Given the description of an element on the screen output the (x, y) to click on. 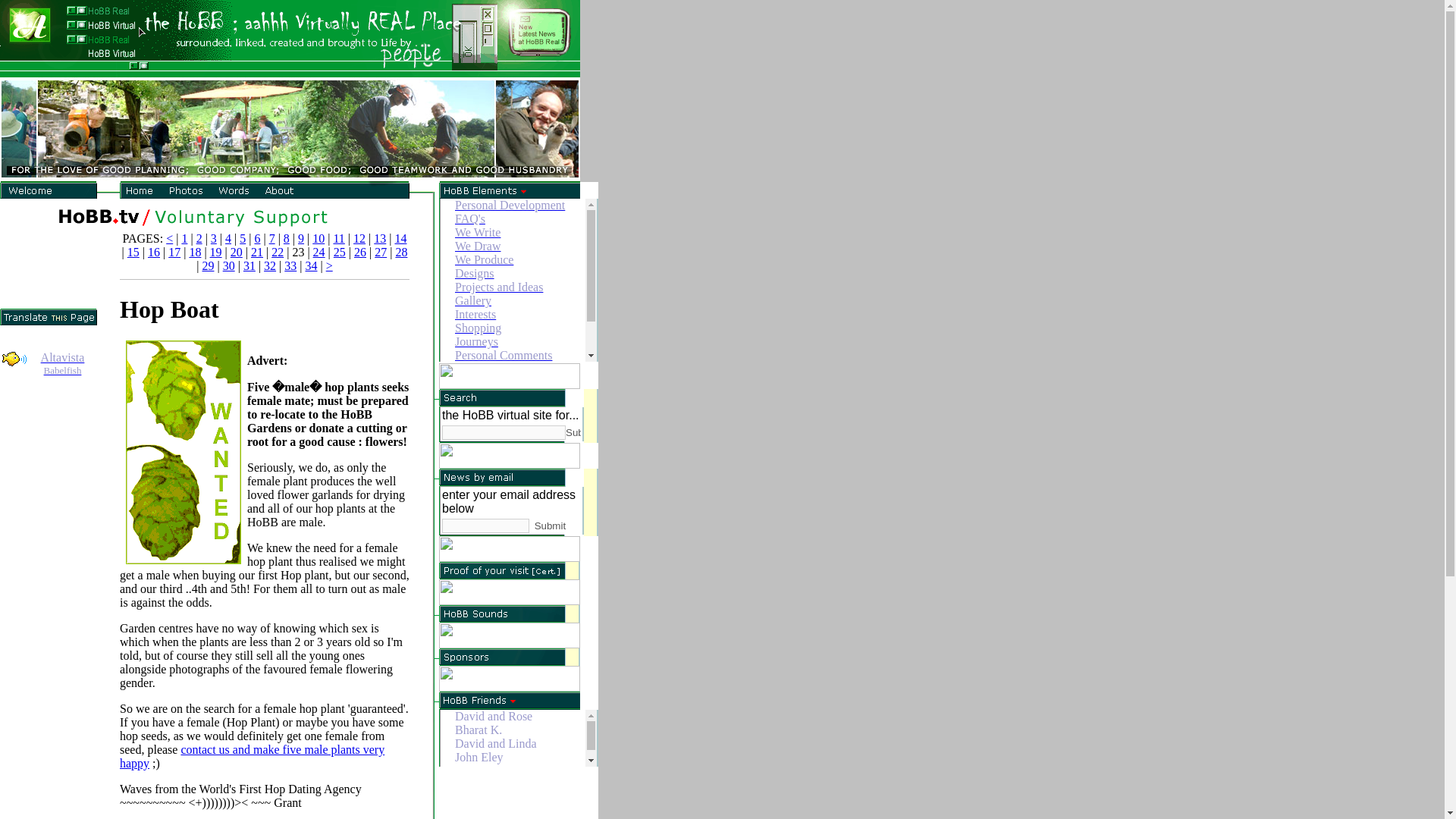
26 (359, 251)
25 (339, 251)
10 (318, 237)
Submit (556, 525)
30 (228, 265)
15 (133, 251)
16 (154, 251)
14 (400, 237)
21 (256, 251)
27 (380, 251)
28 (400, 251)
Submit (62, 363)
18 (573, 432)
22 (194, 251)
